Given the description of an element on the screen output the (x, y) to click on. 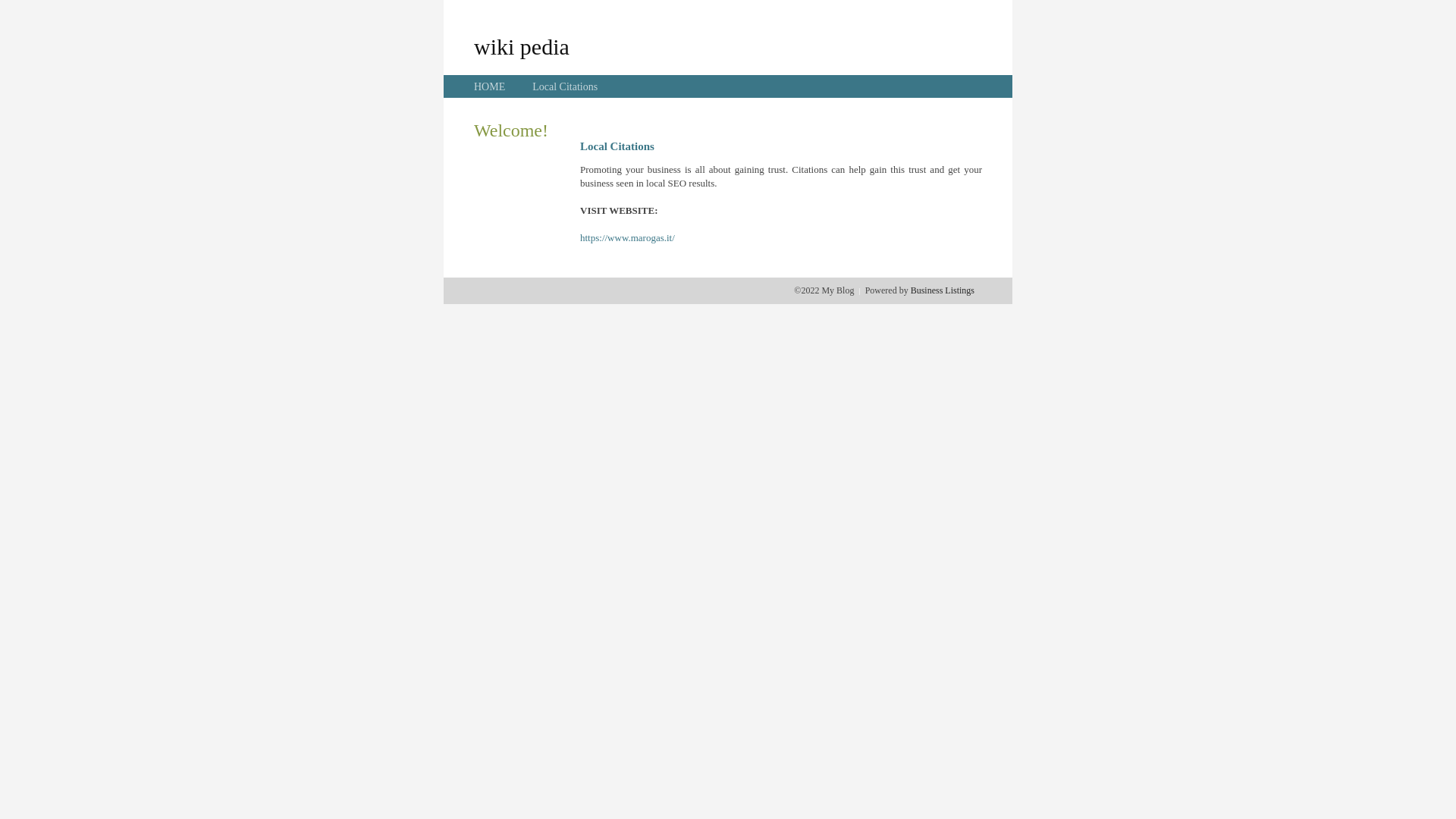
Local Citations Element type: text (564, 86)
HOME Element type: text (489, 86)
wiki pedia Element type: text (521, 46)
Business Listings Element type: text (942, 290)
https://www.marogas.it/ Element type: text (627, 237)
